Given the description of an element on the screen output the (x, y) to click on. 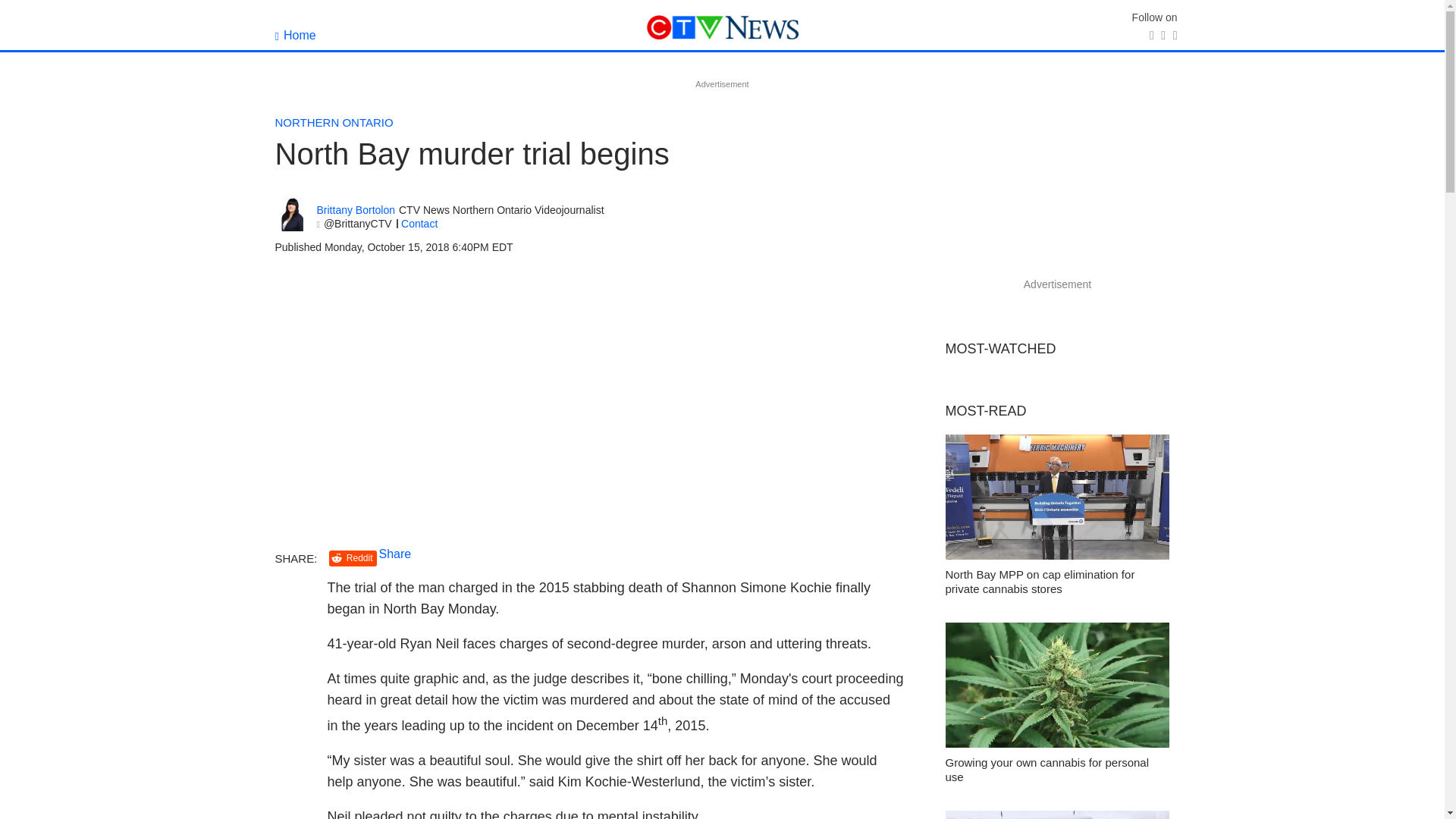
Contact (419, 223)
NORTHERN ONTARIO (334, 122)
Home (295, 34)
Reddit (353, 558)
Share (395, 553)
Brittany Bortolon (356, 210)
